Given the description of an element on the screen output the (x, y) to click on. 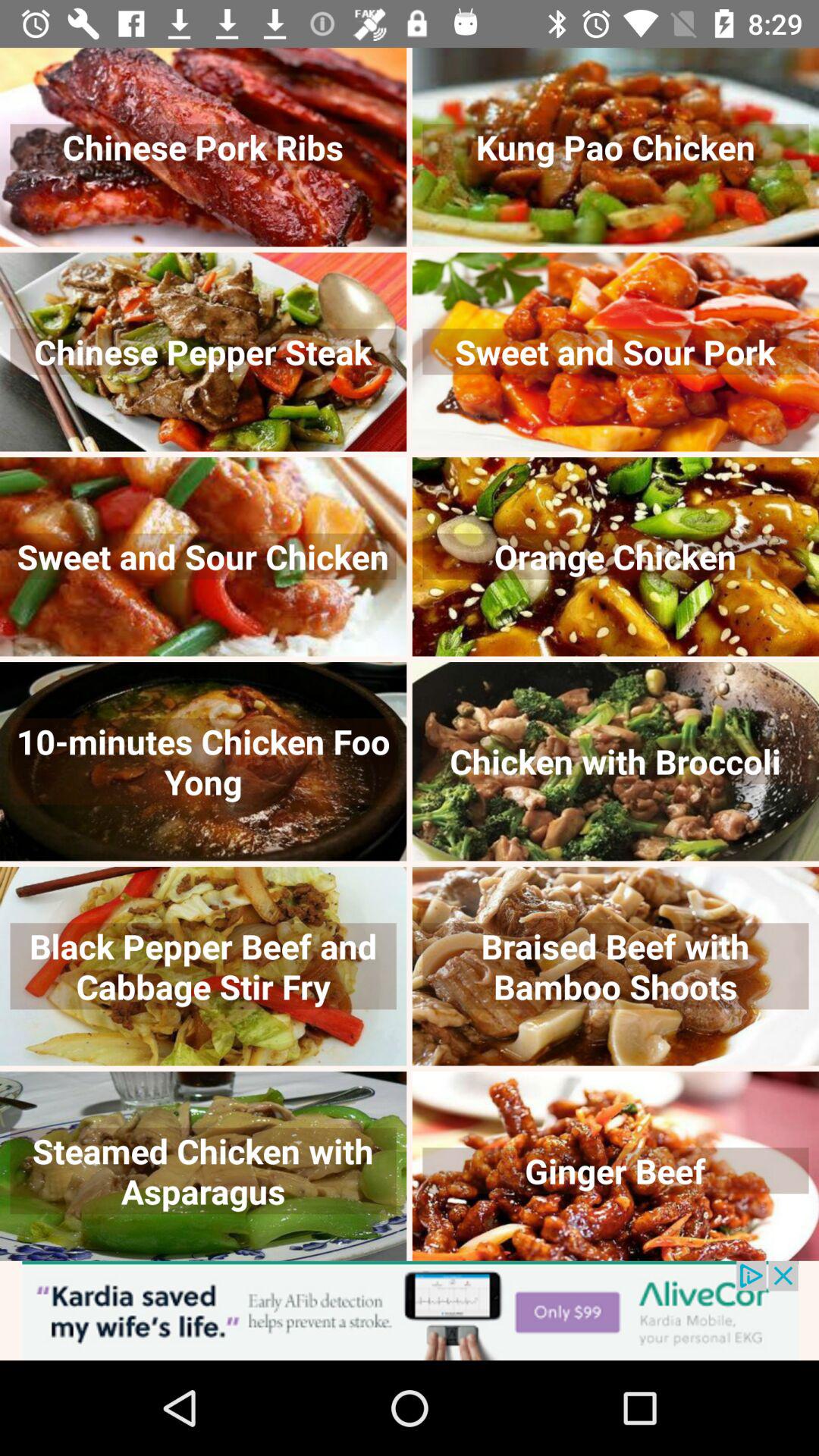
open advertisement (409, 1310)
